Given the description of an element on the screen output the (x, y) to click on. 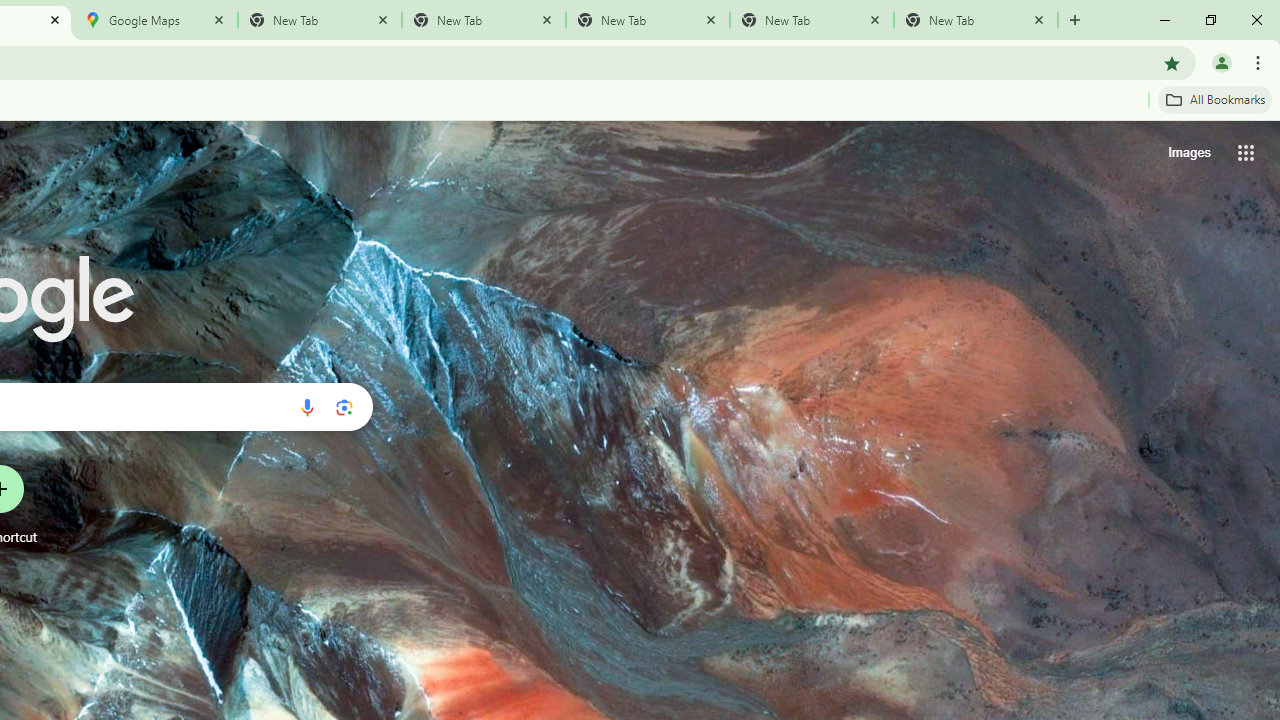
New Tab (647, 20)
Google Maps (156, 20)
